Given the description of an element on the screen output the (x, y) to click on. 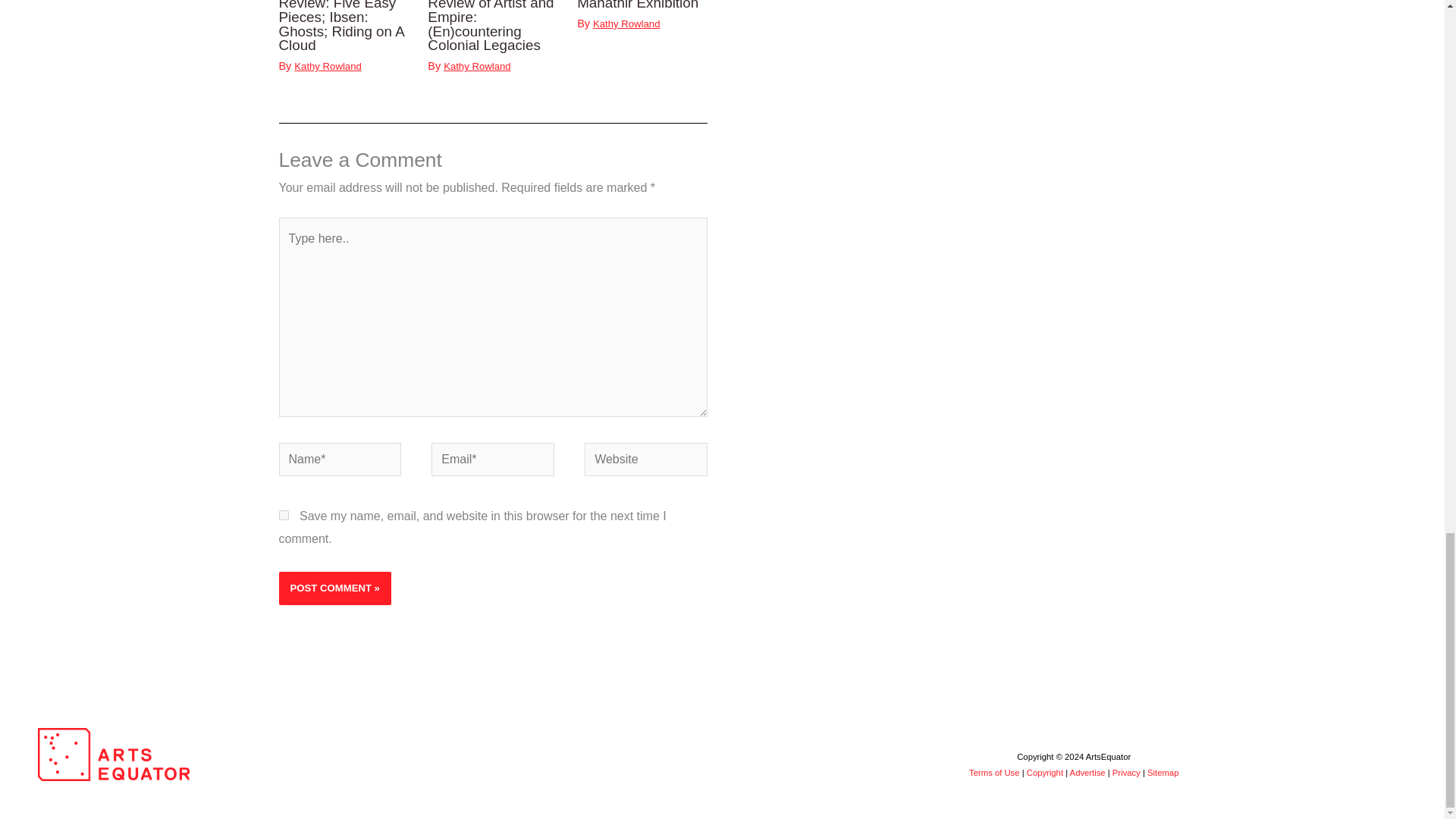
View all posts by Kathy Rowland (327, 66)
Review of Era Mahathir Exhibition (637, 5)
View all posts by Kathy Rowland (477, 66)
Kathy Rowland (626, 23)
yes (283, 515)
Kathy Rowland (327, 66)
Kathy Rowland (477, 66)
View all posts by Kathy Rowland (626, 23)
